Given the description of an element on the screen output the (x, y) to click on. 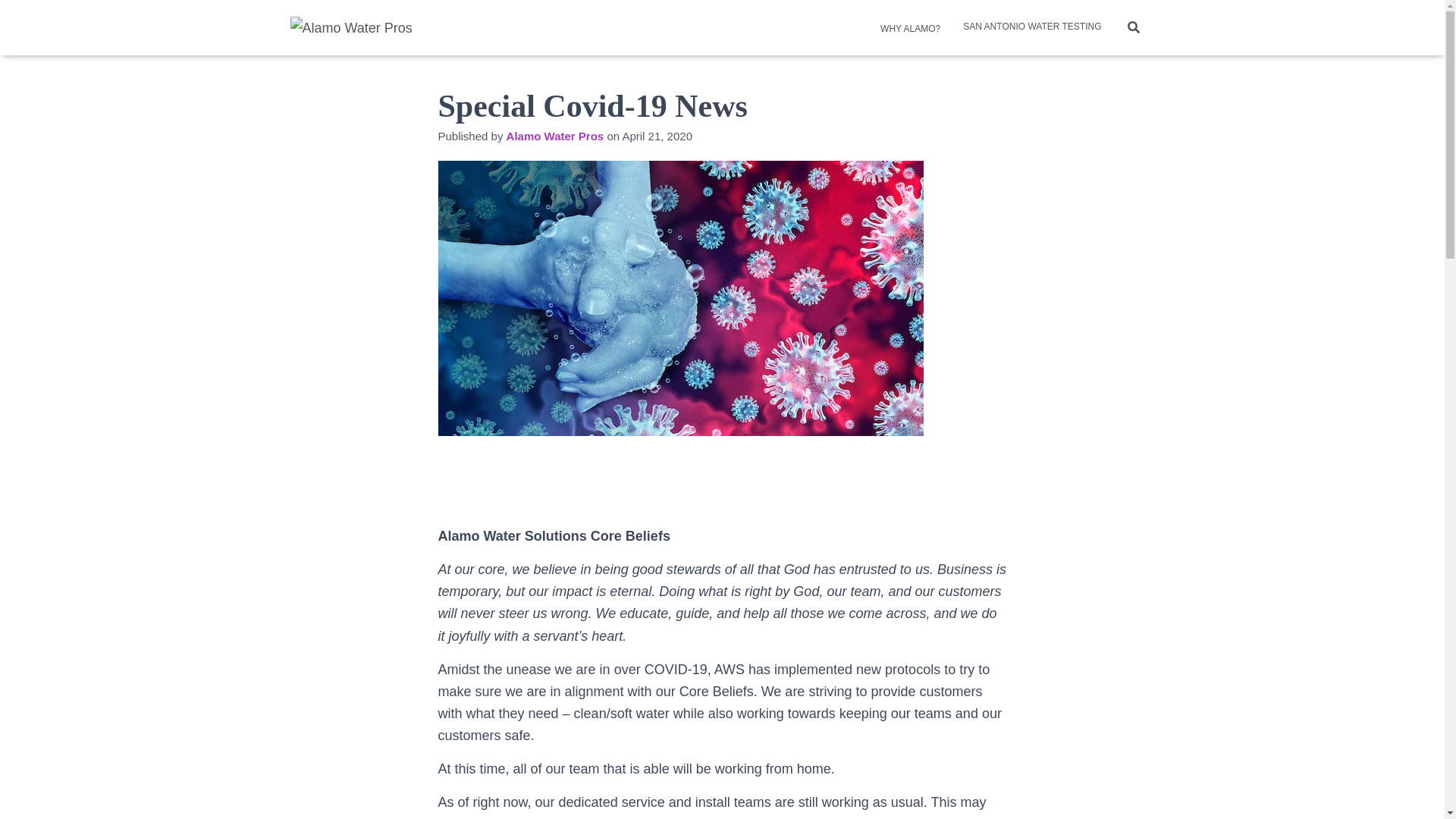
Alamo Water Pros (555, 135)
 WHY ALAMO? (907, 27)
Why Alamo Water Solutions? (907, 27)
SAN ANTONIO WATER TESTING (1032, 26)
Alamo Water Pros (351, 27)
San Antonio Water Testing (1032, 26)
